Given the description of an element on the screen output the (x, y) to click on. 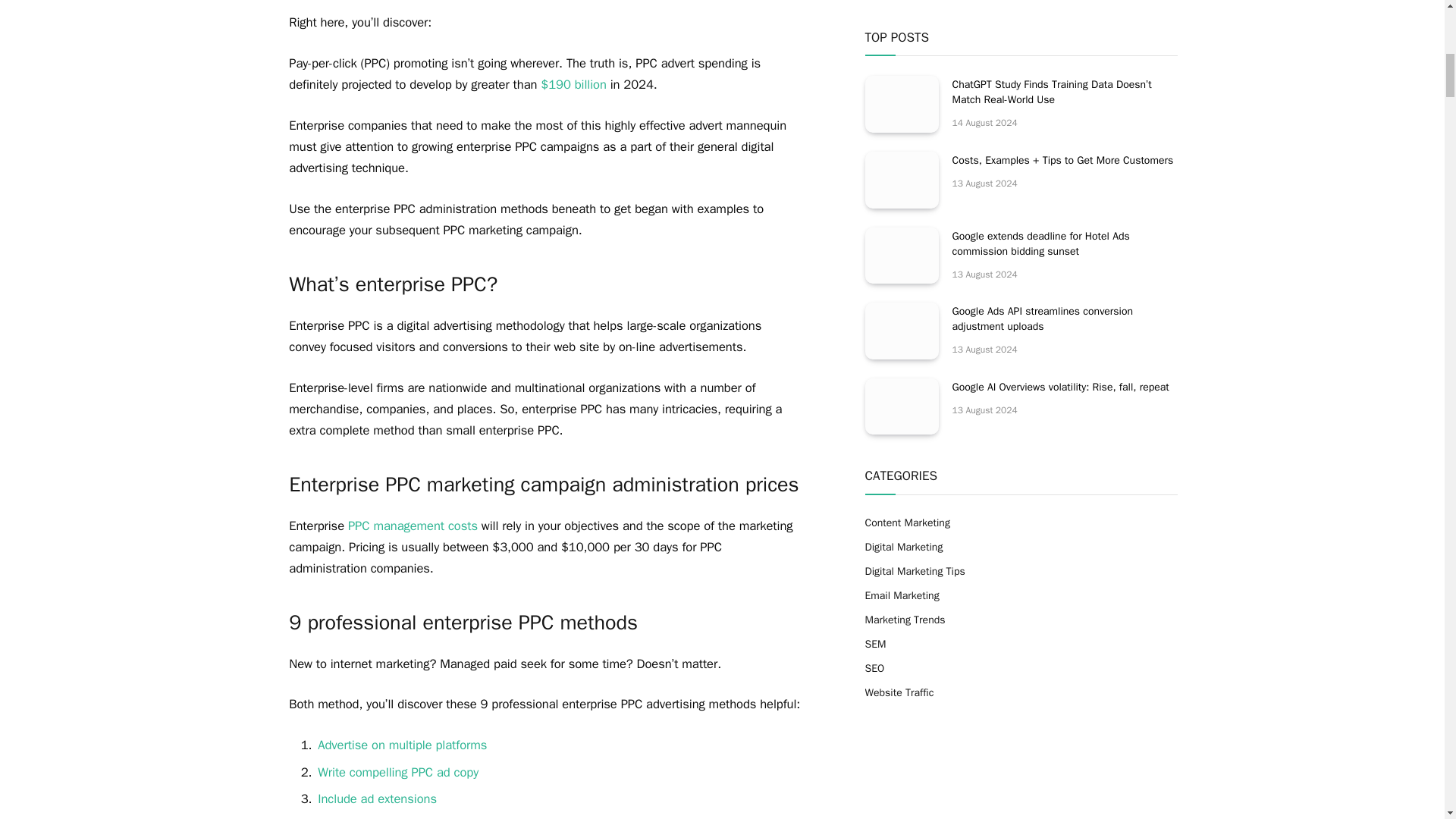
PPC management costs (412, 525)
Include ad extensions (376, 798)
Advertise on multiple platforms (401, 744)
Write compelling PPC ad copy (398, 772)
